Given the description of an element on the screen output the (x, y) to click on. 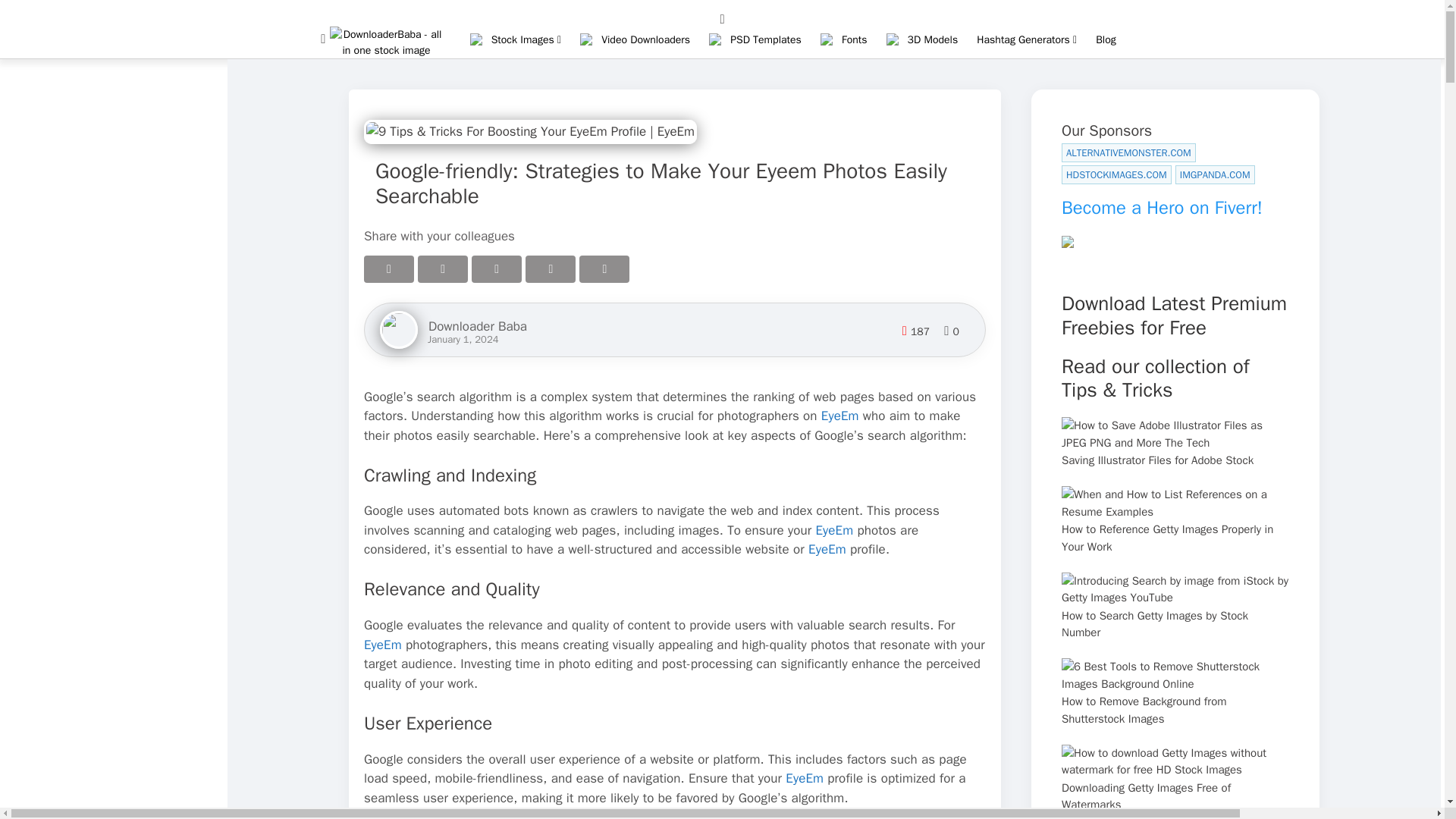
EyeEm (840, 415)
EyeEm (834, 530)
Stock Images (526, 39)
3D Models (932, 39)
Hashtag Generators (1026, 39)
Video Downloaders (645, 39)
Blog (1105, 39)
PSD Templates (765, 39)
Fonts (854, 39)
Downloader Baba Official Logo (387, 49)
